Given the description of an element on the screen output the (x, y) to click on. 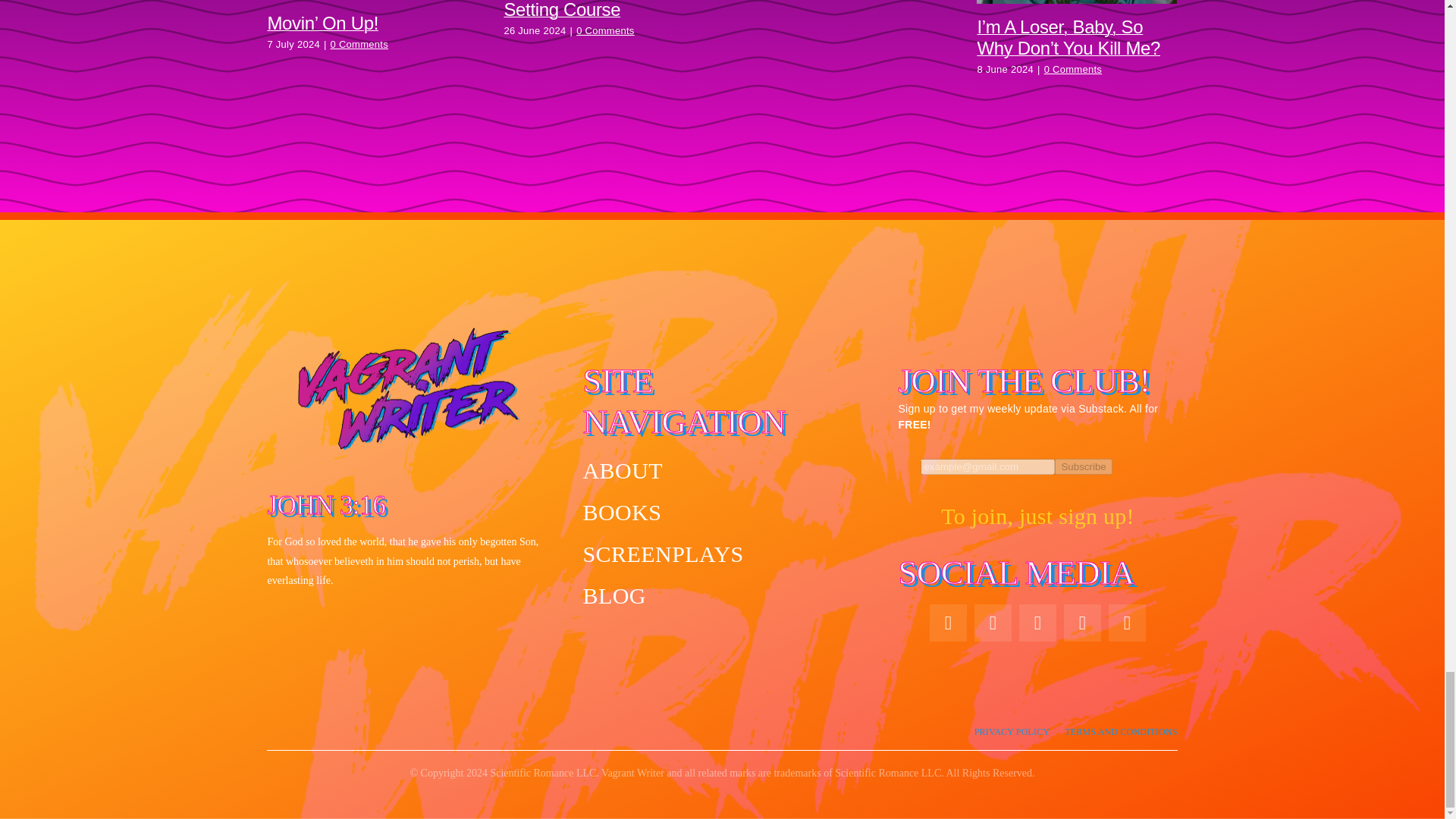
Setting Course (561, 9)
ABOUT (721, 470)
Setting Course (561, 9)
Subscribe (1037, 473)
BLOG (721, 595)
SCREENPLAYS (721, 553)
0 Comments (604, 30)
0 Comments (1072, 69)
Subscribe (1083, 466)
BOOKS (721, 512)
0 Comments (359, 43)
